Given the description of an element on the screen output the (x, y) to click on. 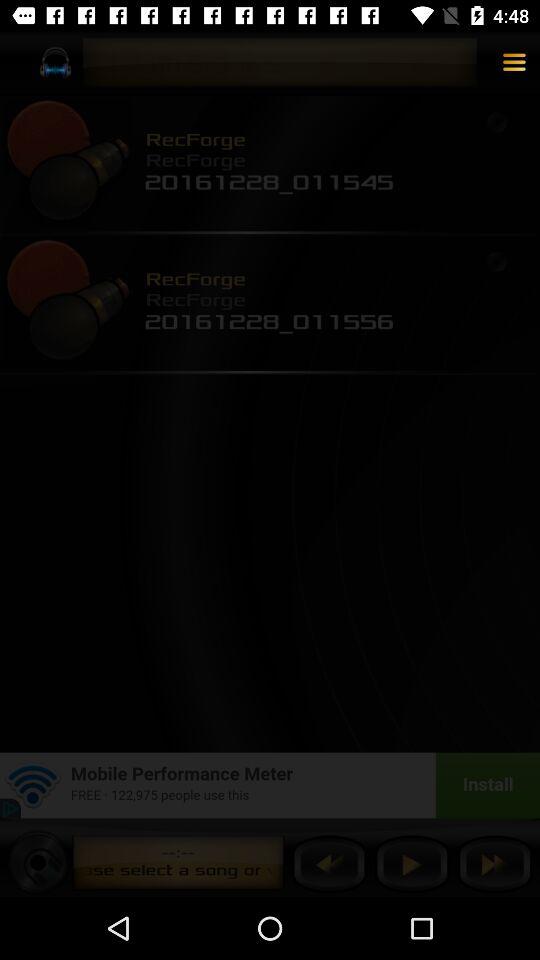
select three horizontal lines on the top right corner of the web page (514, 63)
click on previous button (329, 864)
select the icon on top left (54, 62)
select the first image of the page (68, 162)
click the backward button on the web page (329, 864)
